Given the description of an element on the screen output the (x, y) to click on. 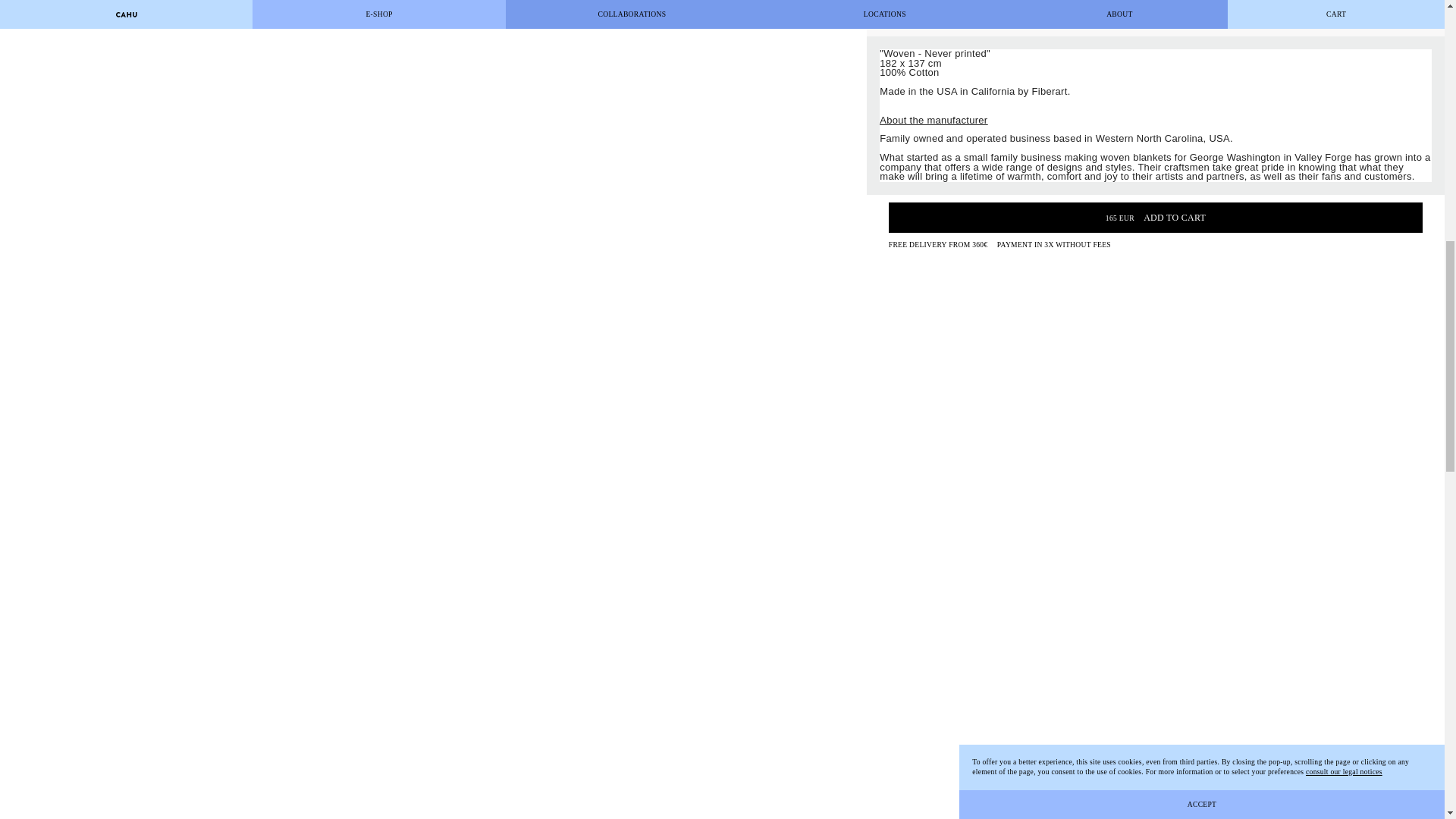
Plaid CAHU Enjoy (433, 38)
